Given the description of an element on the screen output the (x, y) to click on. 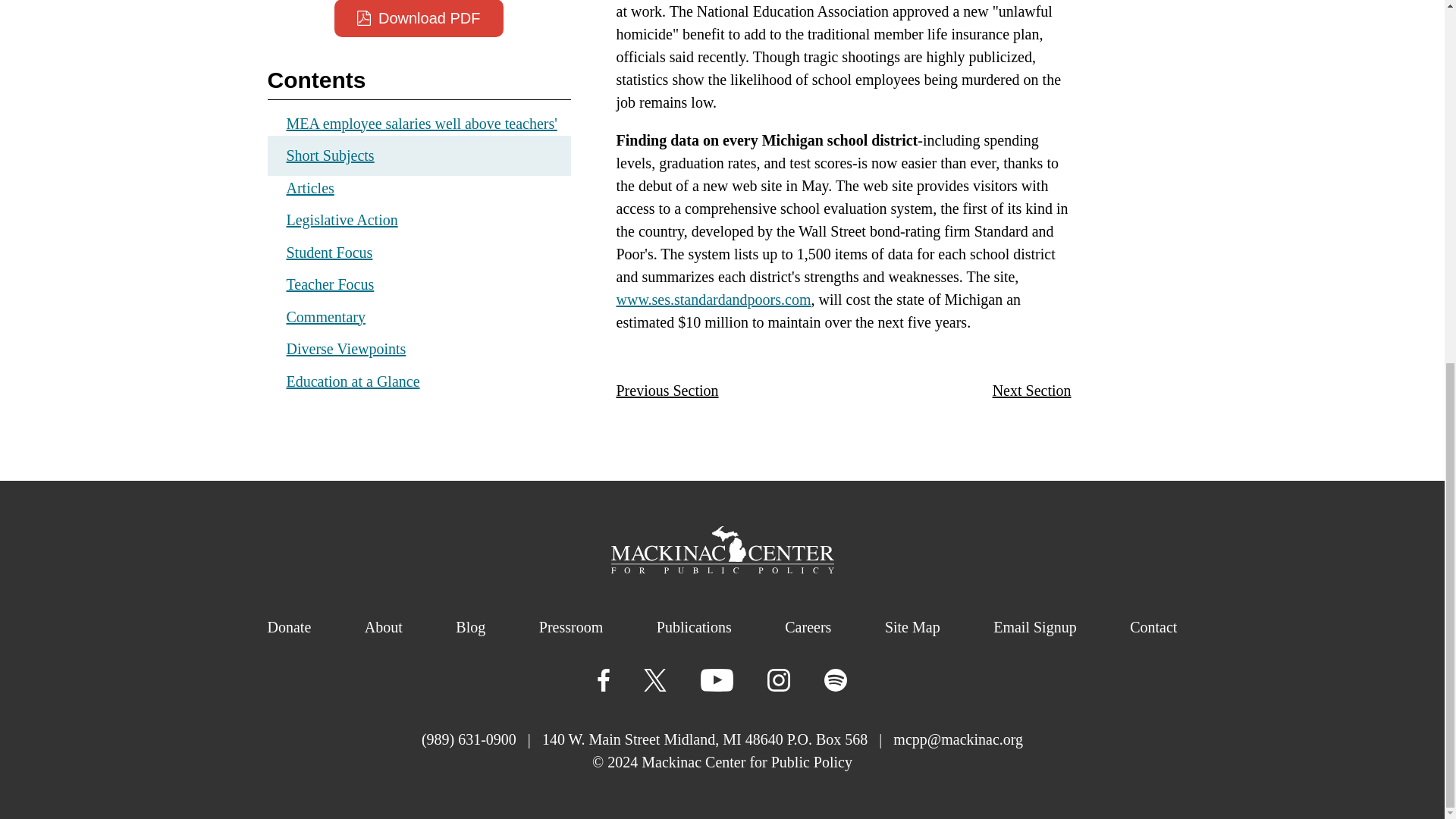
Education at a Glance (353, 381)
Legislative Action (341, 219)
Diverse Viewpoints (346, 348)
About (384, 626)
Short Subjects (418, 155)
Site Map (912, 626)
Careers (807, 626)
Next Section (1031, 390)
Articles (310, 187)
Blog (469, 626)
www.ses.standardandpoors.com (712, 299)
MEA employee salaries well above teachers' (421, 123)
Pressroom (570, 626)
Donate (288, 626)
Teacher Focus (330, 284)
